Given the description of an element on the screen output the (x, y) to click on. 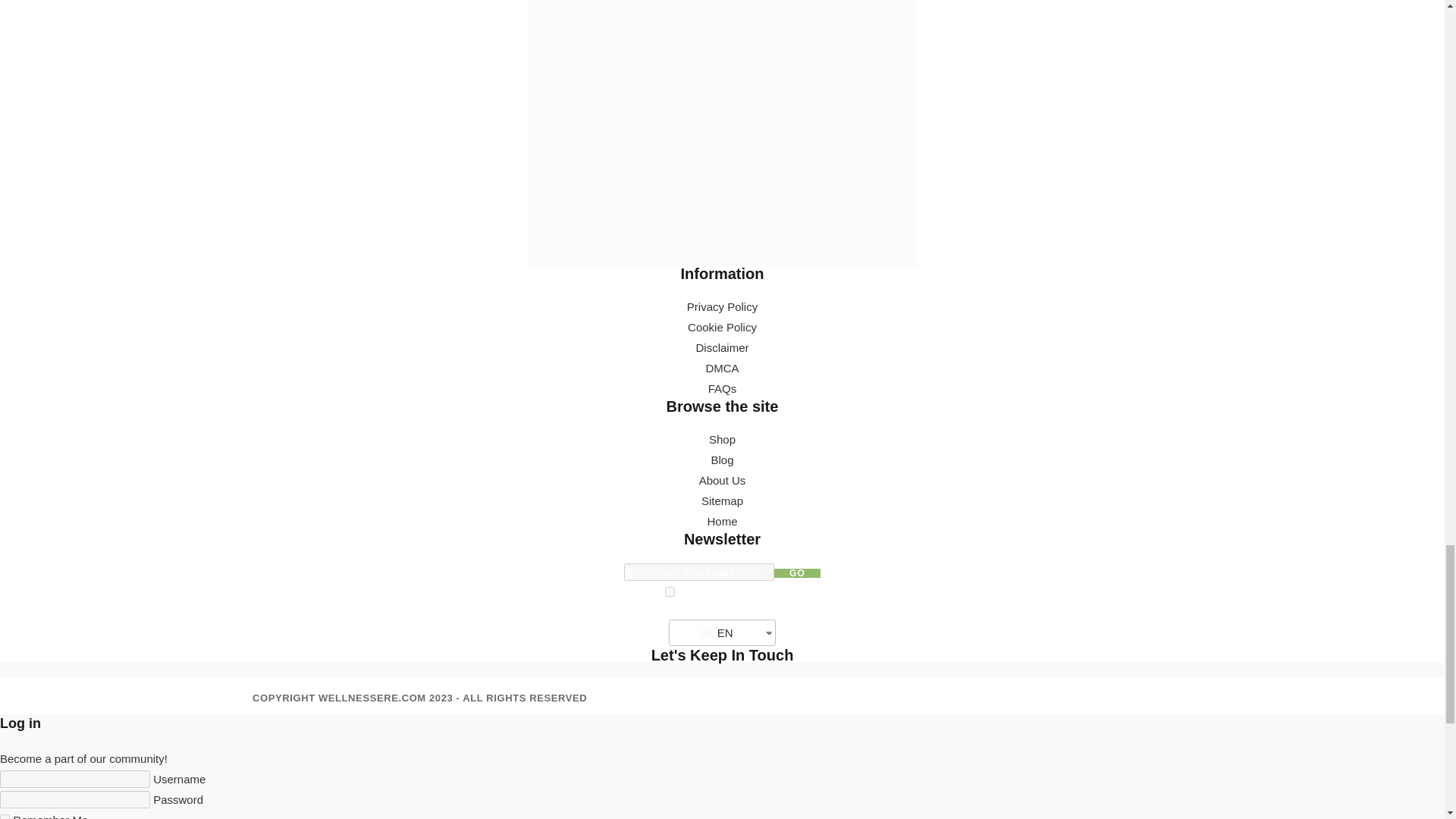
English (706, 633)
1 (670, 592)
Enter your email address (699, 571)
wellness and health (721, 133)
English (716, 632)
forever (5, 816)
